Given the description of an element on the screen output the (x, y) to click on. 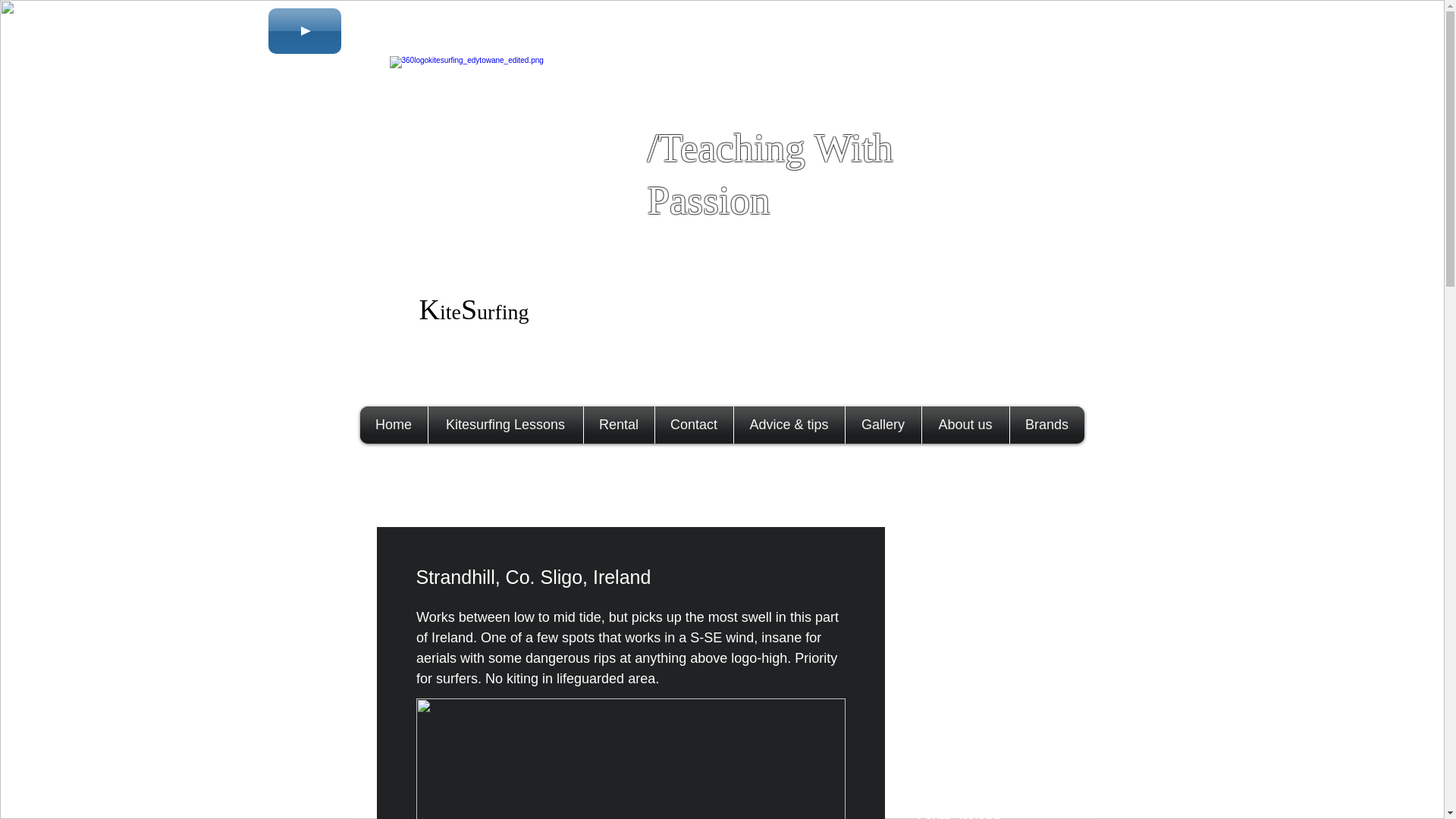
Termonfeckin, Co. Louth, Ireland (990, 806)
HOW TO CHOOSE YOUR KITESURFING GEAR (990, 690)
Brands (1046, 424)
Kitesurfing Lessons (505, 424)
Contact (693, 424)
Gallery (882, 424)
Home (393, 424)
Lurgan, Co. Armagh, Northern Ireland (990, 725)
What is the best size kiteboard to ride as a beginner? (990, 646)
Kites comparision (990, 581)
Rental (617, 424)
About us (964, 424)
Blackrock, Dundalk, Co. Louth, Ireland (990, 770)
